Given the description of an element on the screen output the (x, y) to click on. 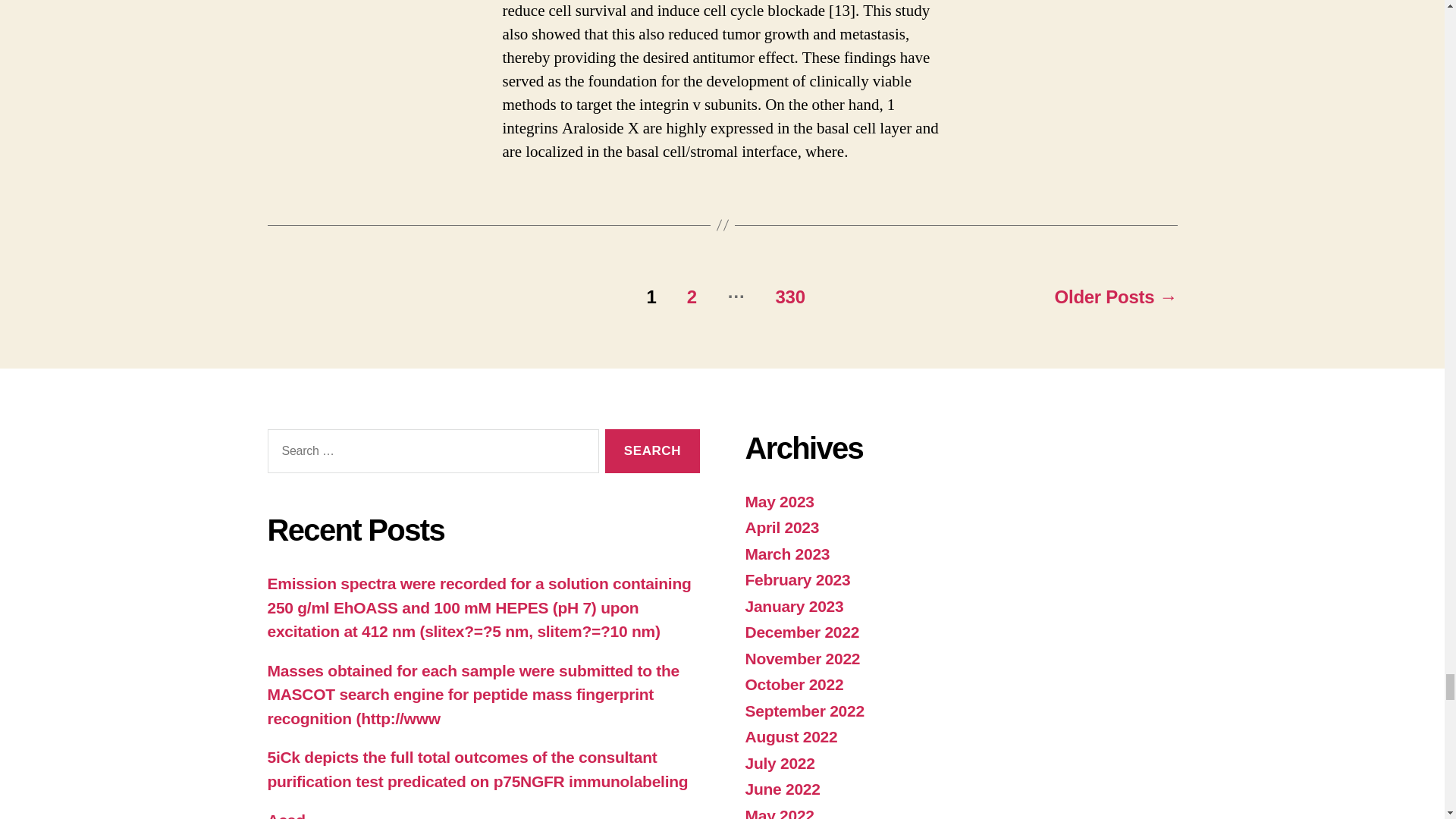
Search (651, 451)
Search (651, 451)
